Given the description of an element on the screen output the (x, y) to click on. 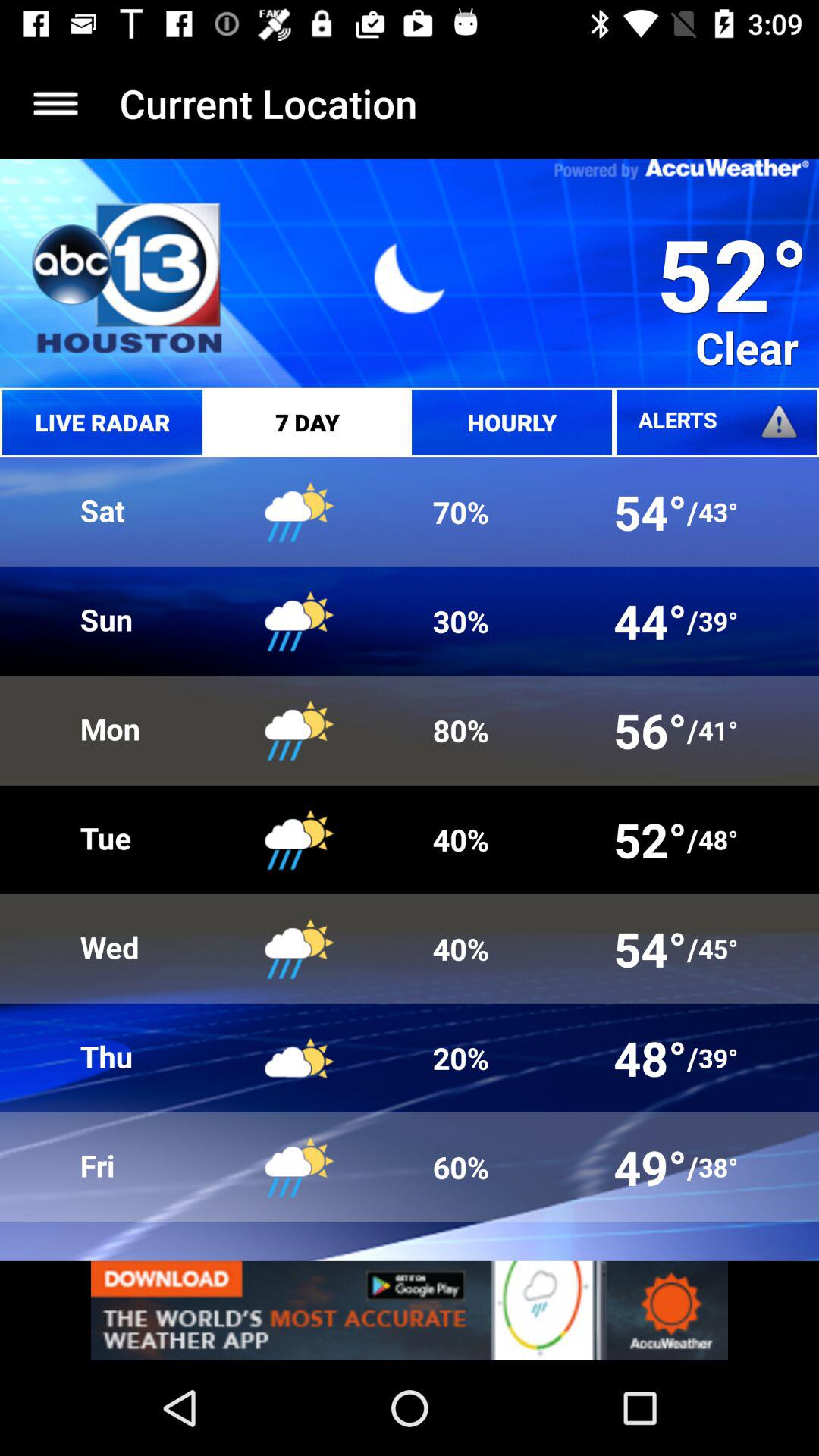
home screen (55, 103)
